Given the description of an element on the screen output the (x, y) to click on. 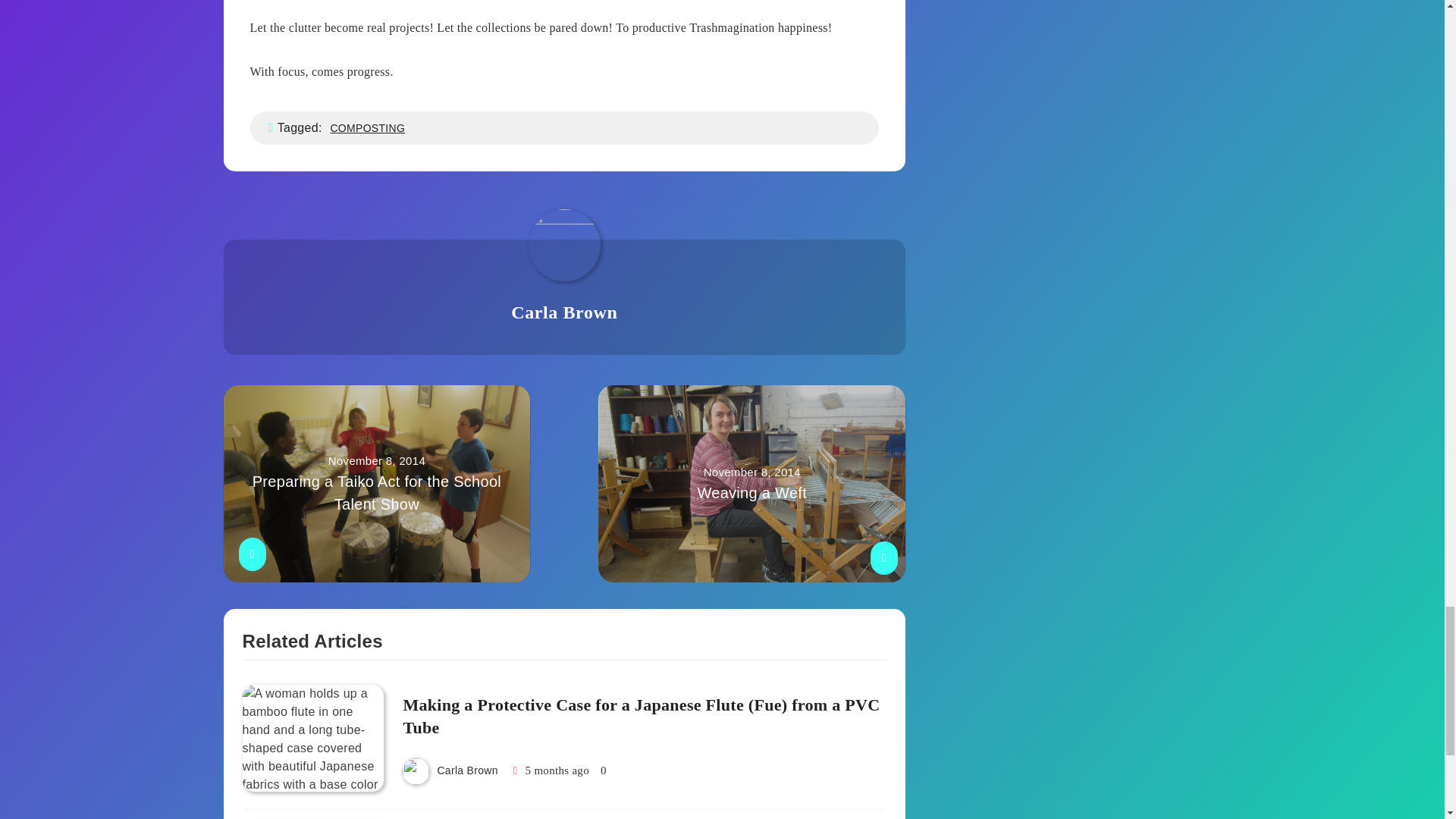
Carla Brown (466, 770)
Carla Brown (564, 312)
COMPOSTING (366, 128)
5 months ago (751, 483)
